Given the description of an element on the screen output the (x, y) to click on. 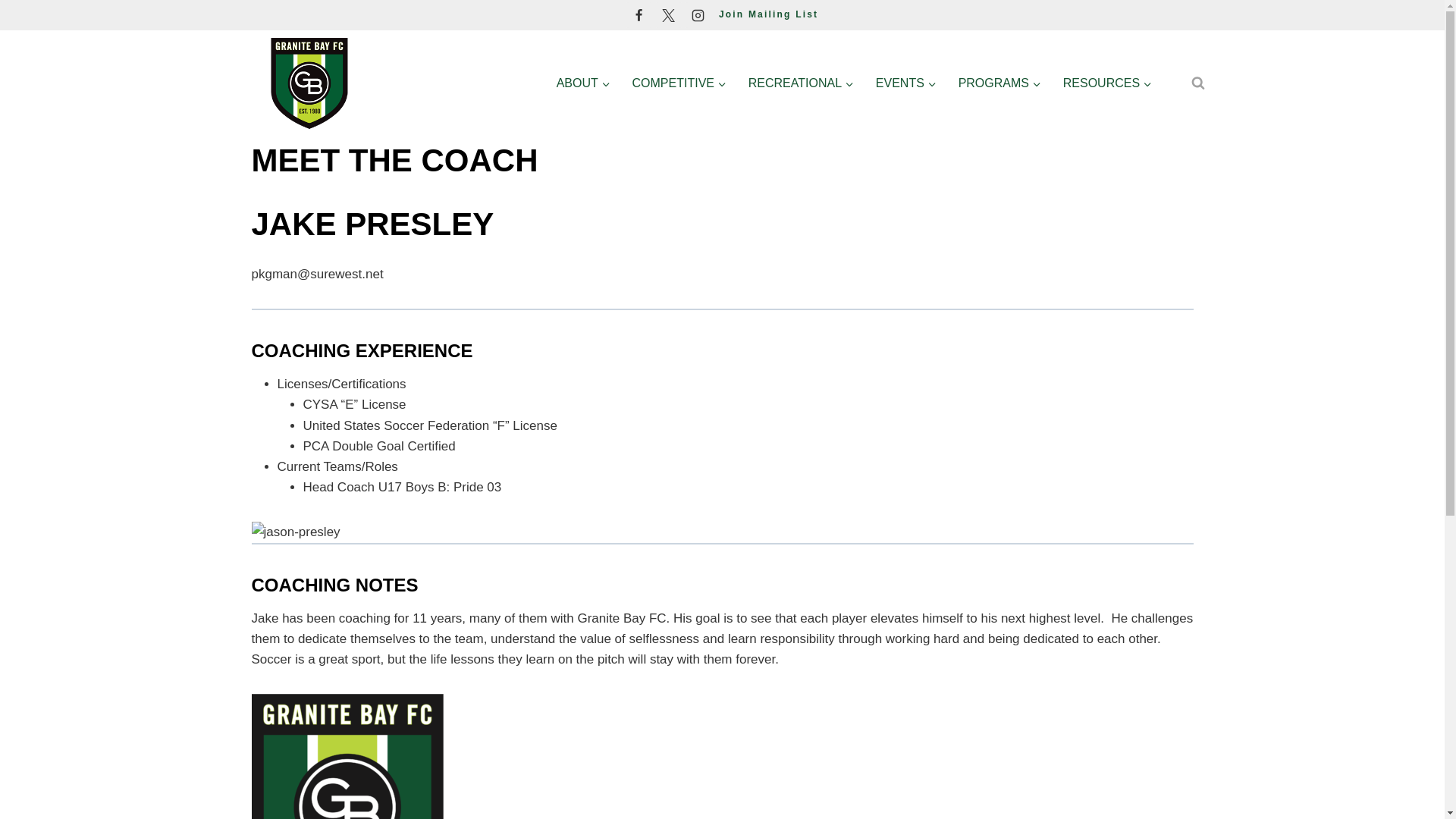
EVENTS (905, 83)
RECREATIONAL (800, 83)
PROGRAMS (999, 83)
Join Mailing List (768, 14)
RESOURCES (1106, 83)
jason-presley (722, 531)
ABOUT (582, 83)
COMPETITIVE (678, 83)
